Given the description of an element on the screen output the (x, y) to click on. 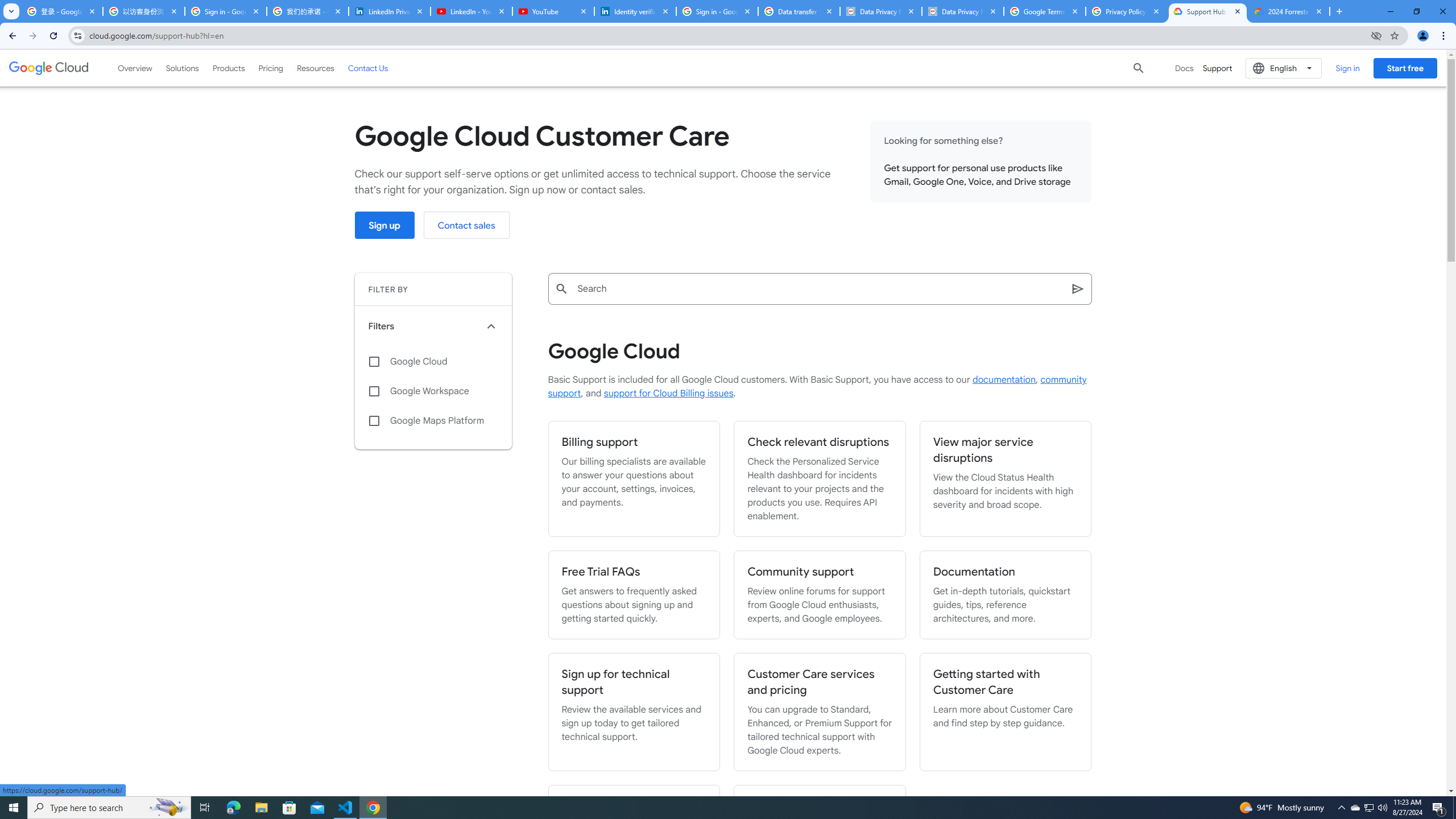
Search tabs (10, 11)
Sign in (1347, 67)
Google Cloud (432, 361)
support for Cloud Billing issues (667, 393)
Solutions (181, 67)
Docs (1183, 67)
Google Workspace (432, 391)
System (6, 6)
View site information (77, 35)
Restore (1416, 11)
